Given the description of an element on the screen output the (x, y) to click on. 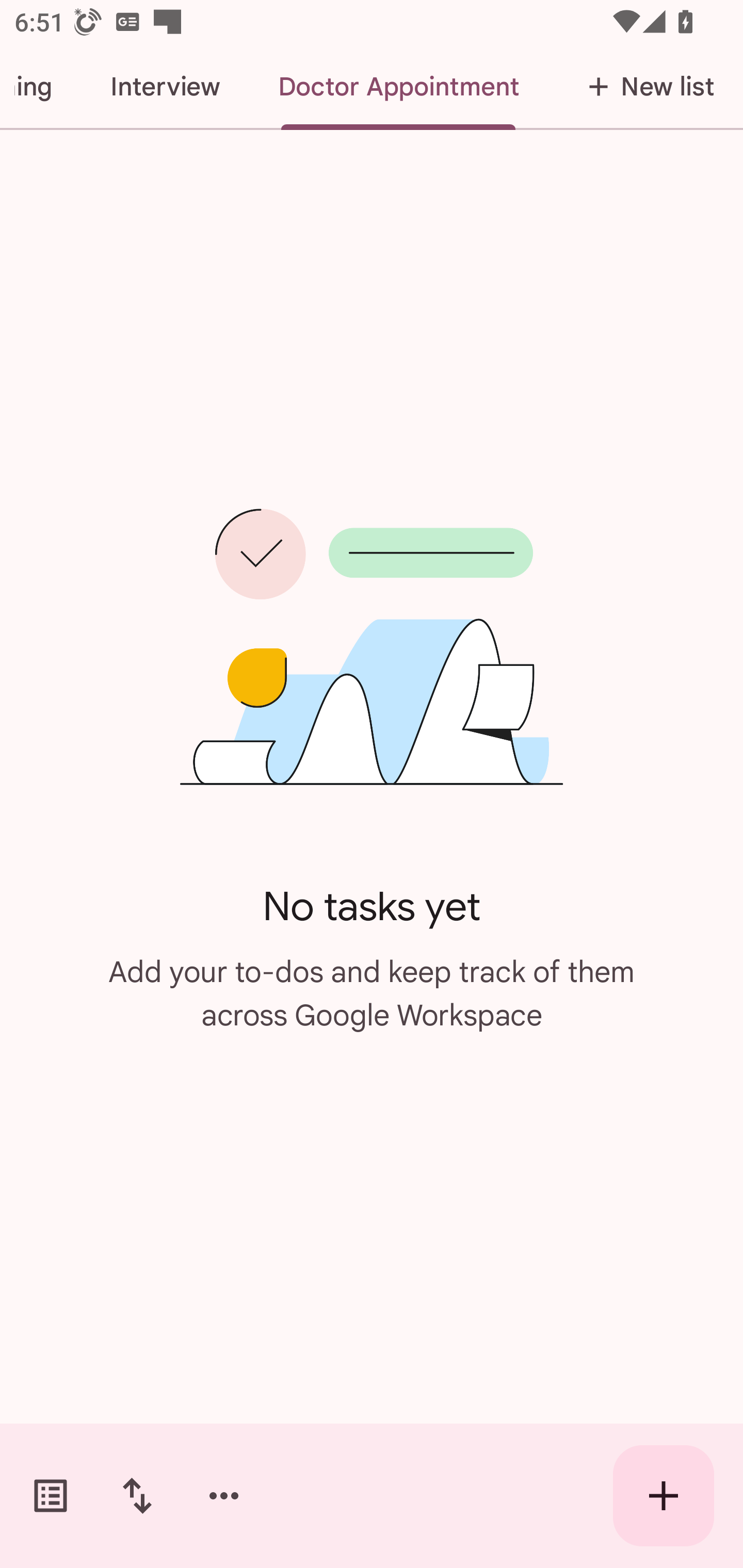
Interview (164, 86)
New list (645, 86)
Switch task lists (50, 1495)
Create new task (663, 1495)
Change sort order (136, 1495)
More options (223, 1495)
